Given the description of an element on the screen output the (x, y) to click on. 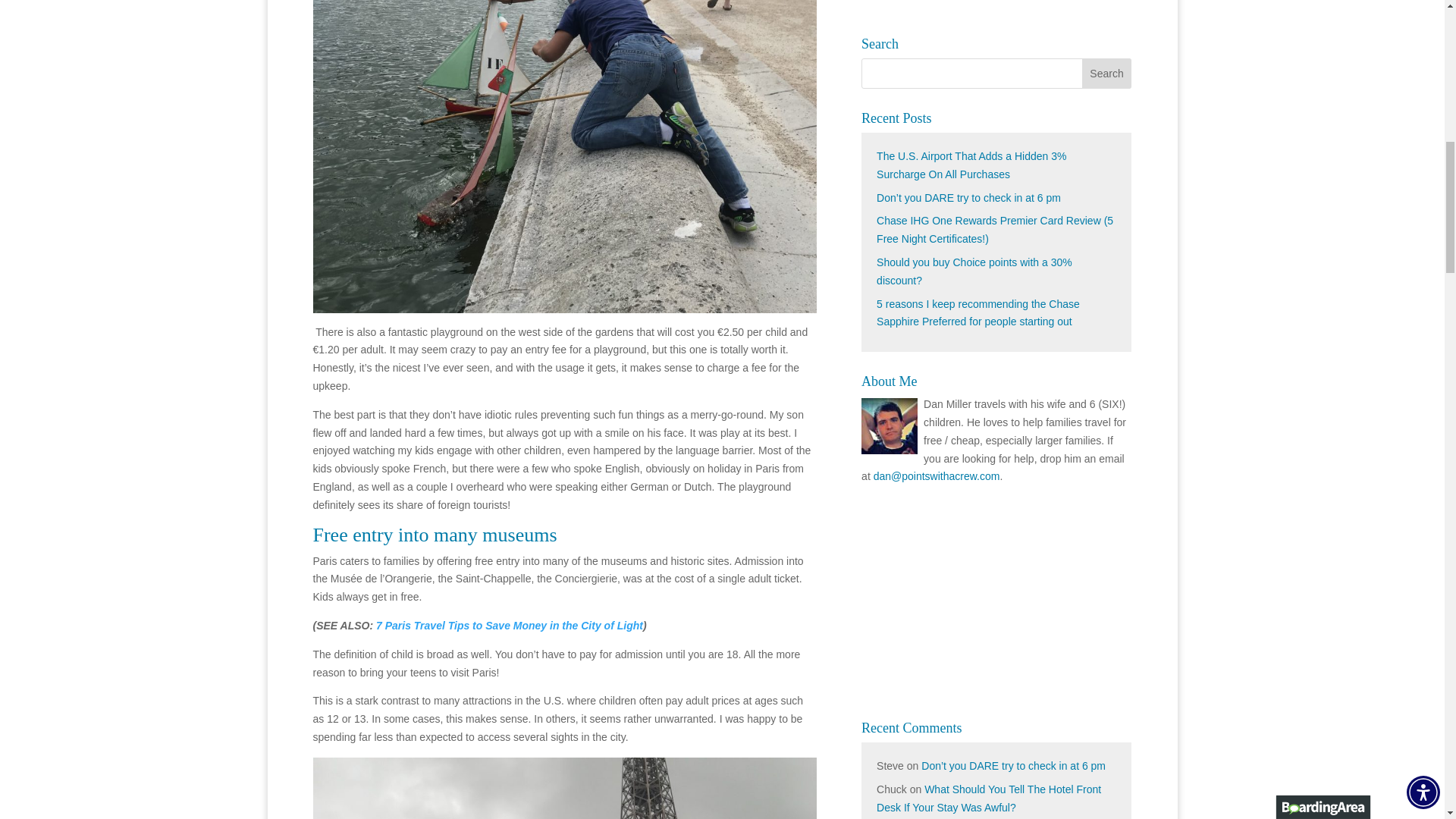
7 Paris Travel Tips to Save Money in the City of Light (509, 625)
Search (1106, 73)
